Given the description of an element on the screen output the (x, y) to click on. 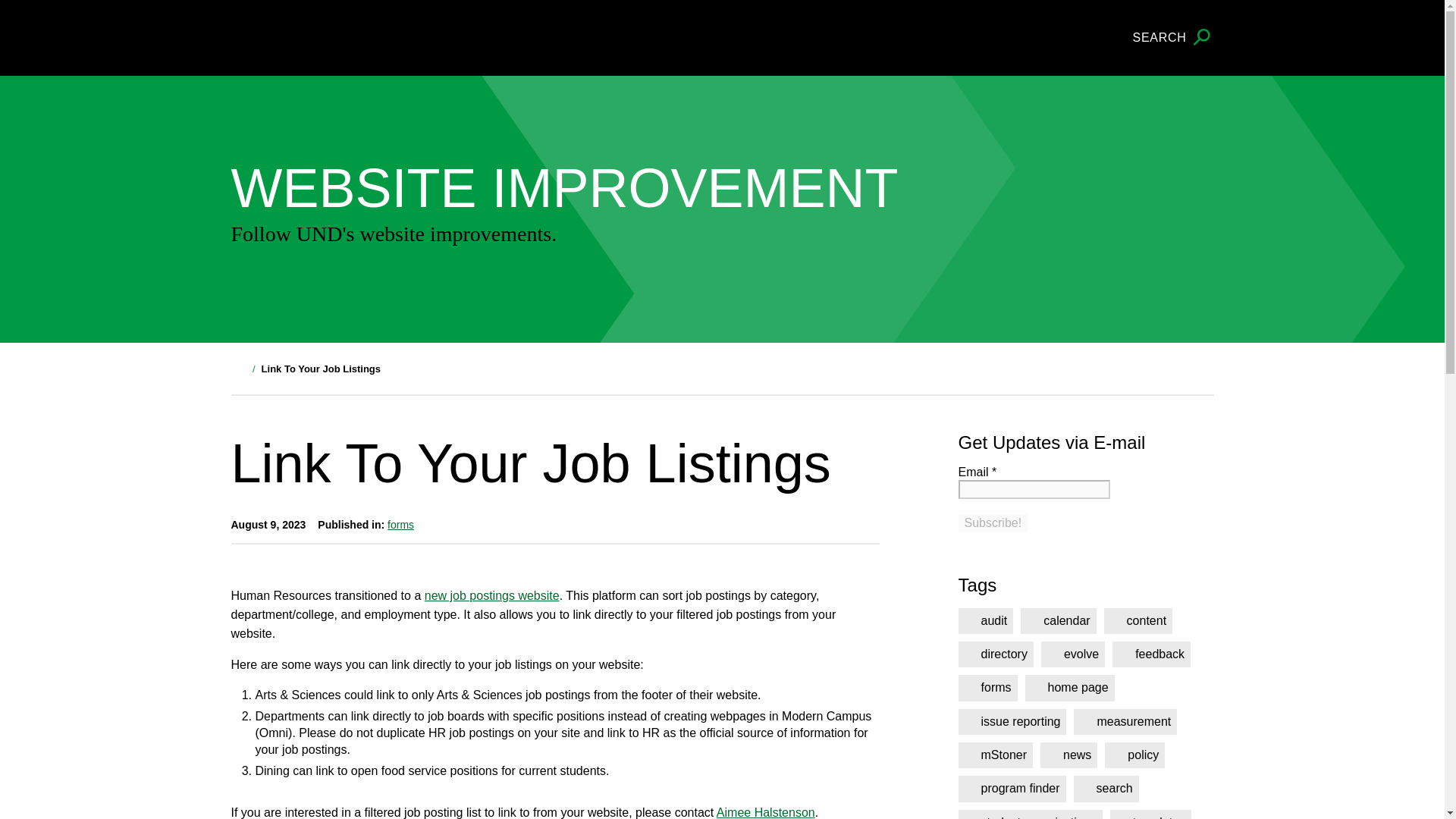
SEARCH (1173, 37)
directory (995, 654)
evolve tag (1073, 654)
policy tag (1134, 755)
Aimee Halstenson (765, 812)
feedback (1151, 654)
home page (1070, 687)
calendar tag (1058, 620)
issue reporting tag (1012, 721)
evolve (1073, 654)
content tag (1137, 620)
Subscribe! (992, 523)
new job postings website (492, 594)
home page tag (1070, 687)
feedback tag (1151, 654)
